Given the description of an element on the screen output the (x, y) to click on. 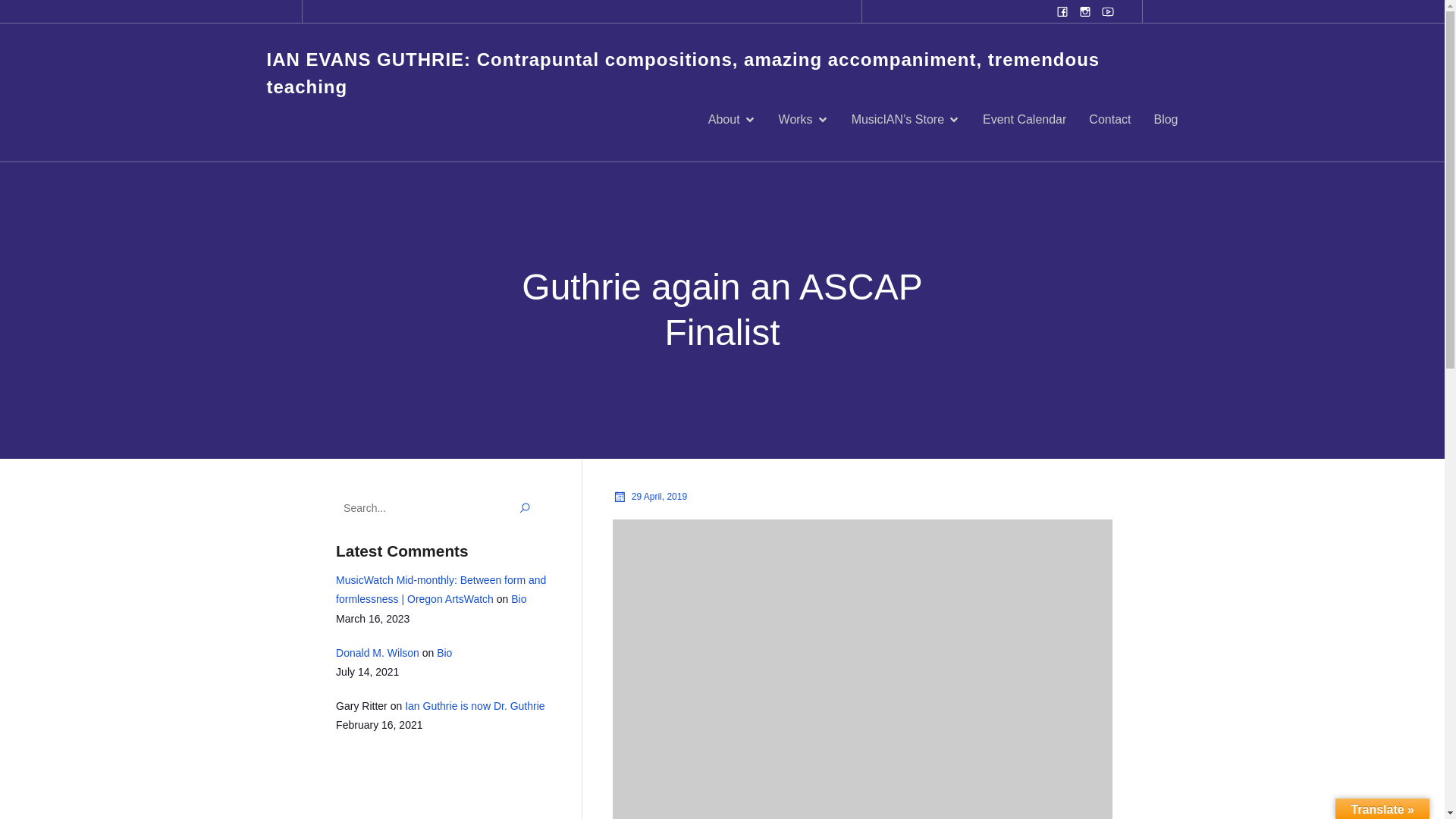
Works (803, 119)
About (731, 119)
